Given the description of an element on the screen output the (x, y) to click on. 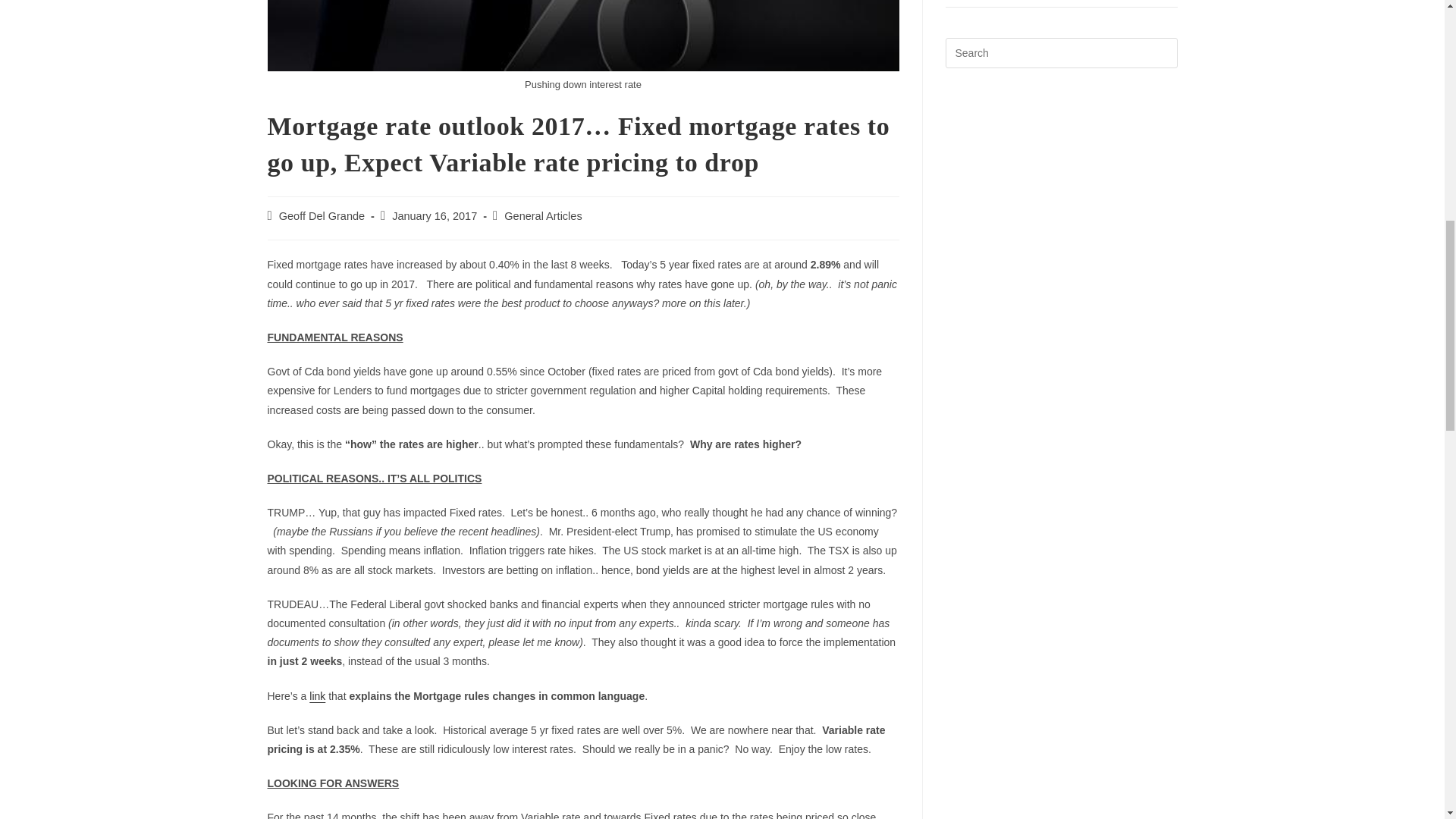
Posts by Geoff Del Grande (322, 215)
General Articles (541, 215)
link (316, 695)
Geoff Del Grande (322, 215)
